Given the description of an element on the screen output the (x, y) to click on. 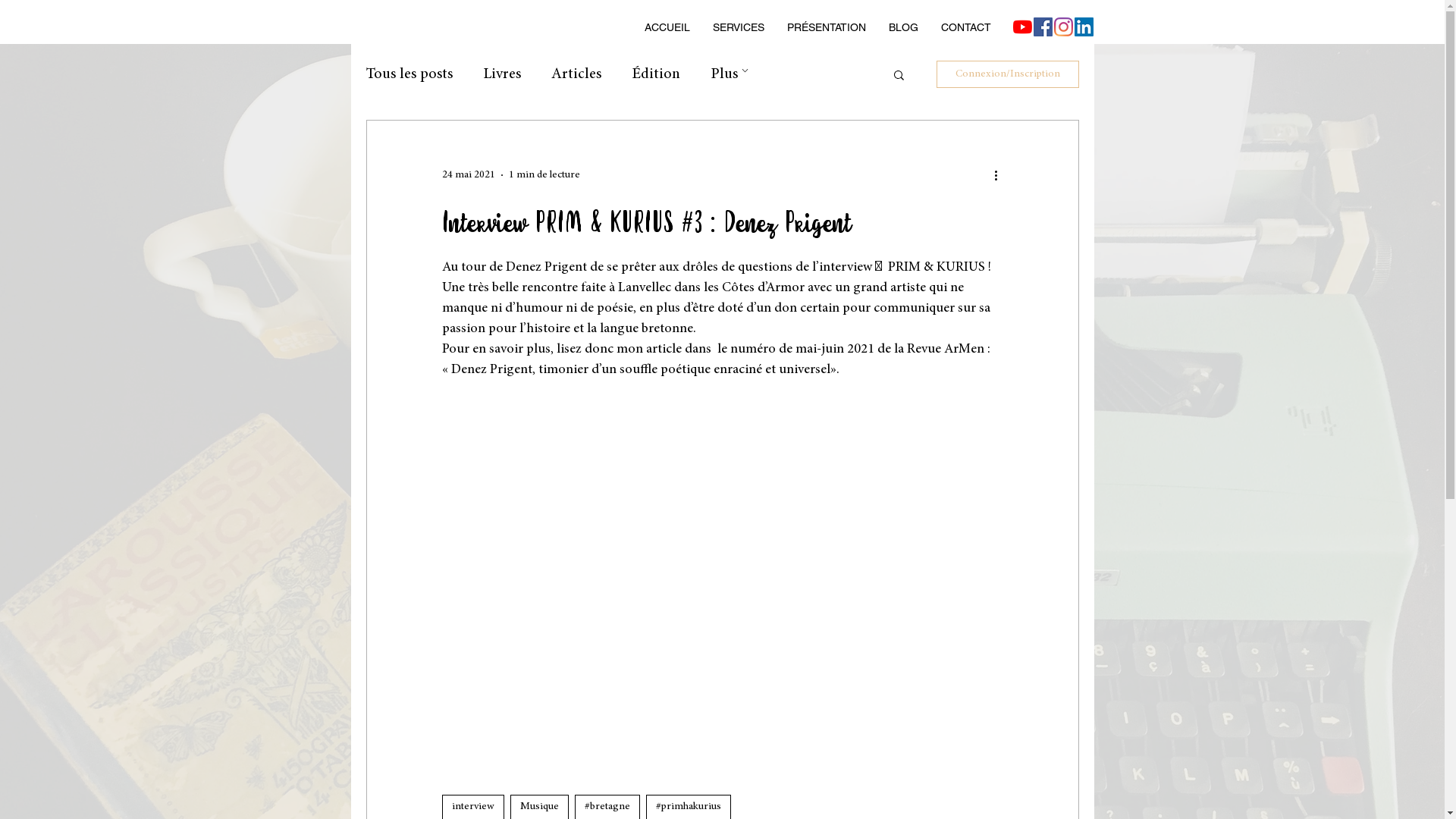
Tous les posts Element type: text (408, 74)
Livres Element type: text (501, 74)
ACCUEIL Element type: text (666, 26)
BLOG Element type: text (902, 26)
Articles Element type: text (575, 74)
CONTACT Element type: text (965, 26)
SERVICES Element type: text (737, 26)
Connexion/Inscription Element type: text (1006, 73)
